Given the description of an element on the screen output the (x, y) to click on. 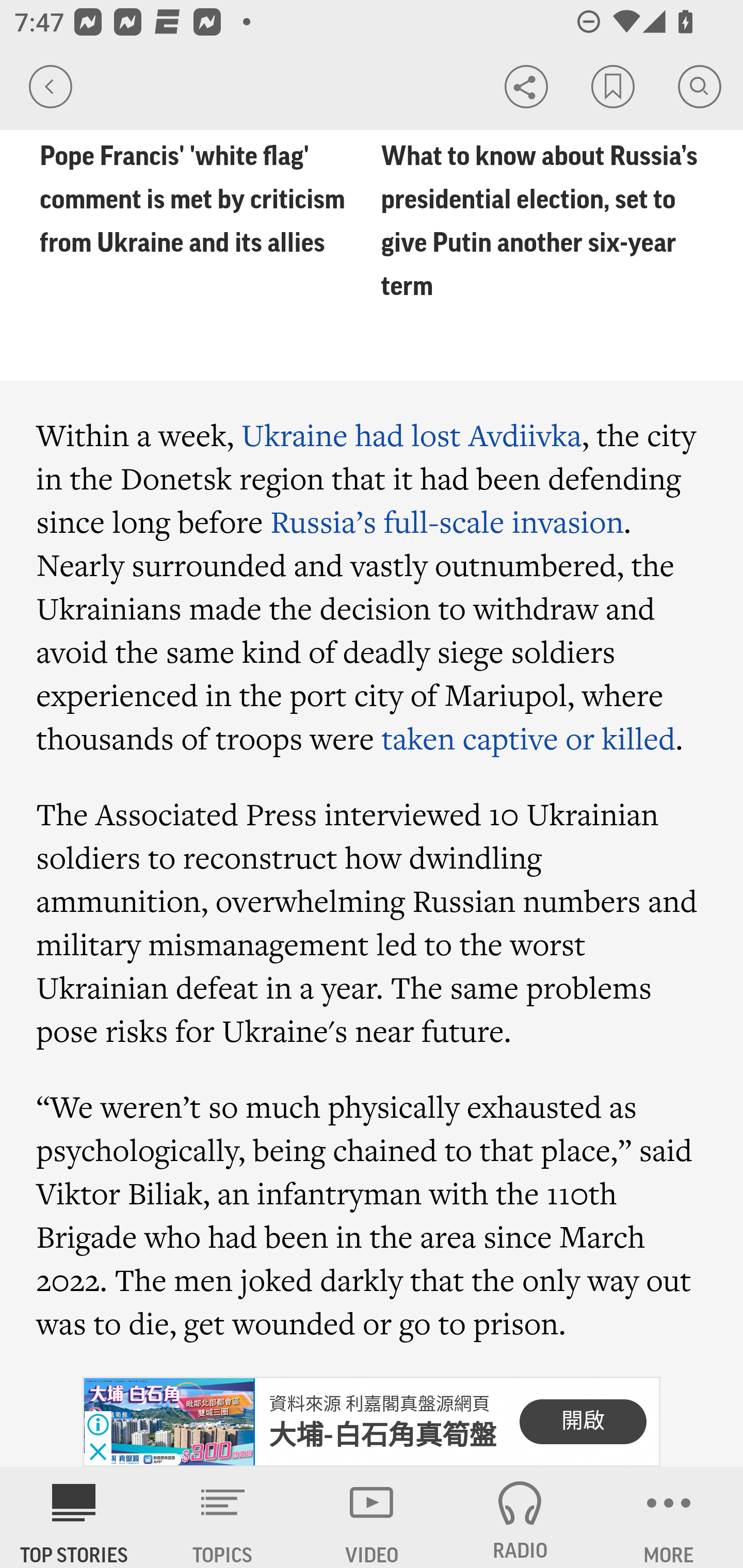
Ukraine had lost Avdiivka (411, 433)
Russia’s full-scale invasion (446, 520)
taken captive or killed (528, 738)
B30001746 (168, 1421)
資料來源 利嘉閣真盤源網頁 (379, 1403)
開啟 (582, 1421)
大埔-白石角真筍盤 (382, 1434)
AP News TOP STORIES (74, 1517)
TOPICS (222, 1517)
VIDEO (371, 1517)
RADIO (519, 1517)
MORE (668, 1517)
